Given the description of an element on the screen output the (x, y) to click on. 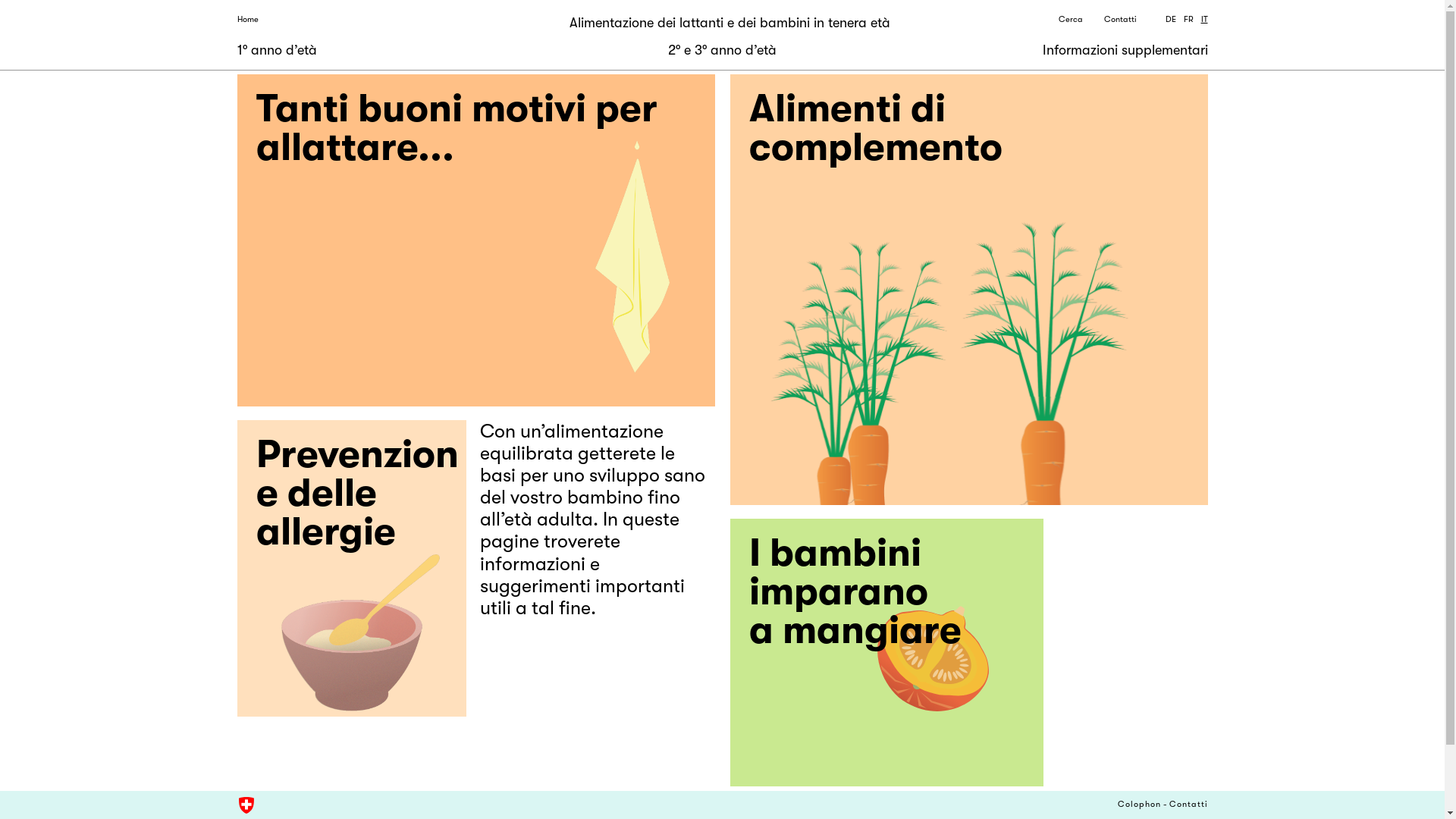
Contatti Element type: text (1188, 804)
Colophon Element type: text (1139, 804)
I bambini imparano
a mangiare Element type: text (885, 652)
Home Element type: text (246, 20)
Alimenti di complemento Element type: text (968, 289)
Tanti buoni motivi per allattare... Element type: text (475, 240)
Informazioni supplementari Element type: text (1124, 49)
